Given the description of an element on the screen output the (x, y) to click on. 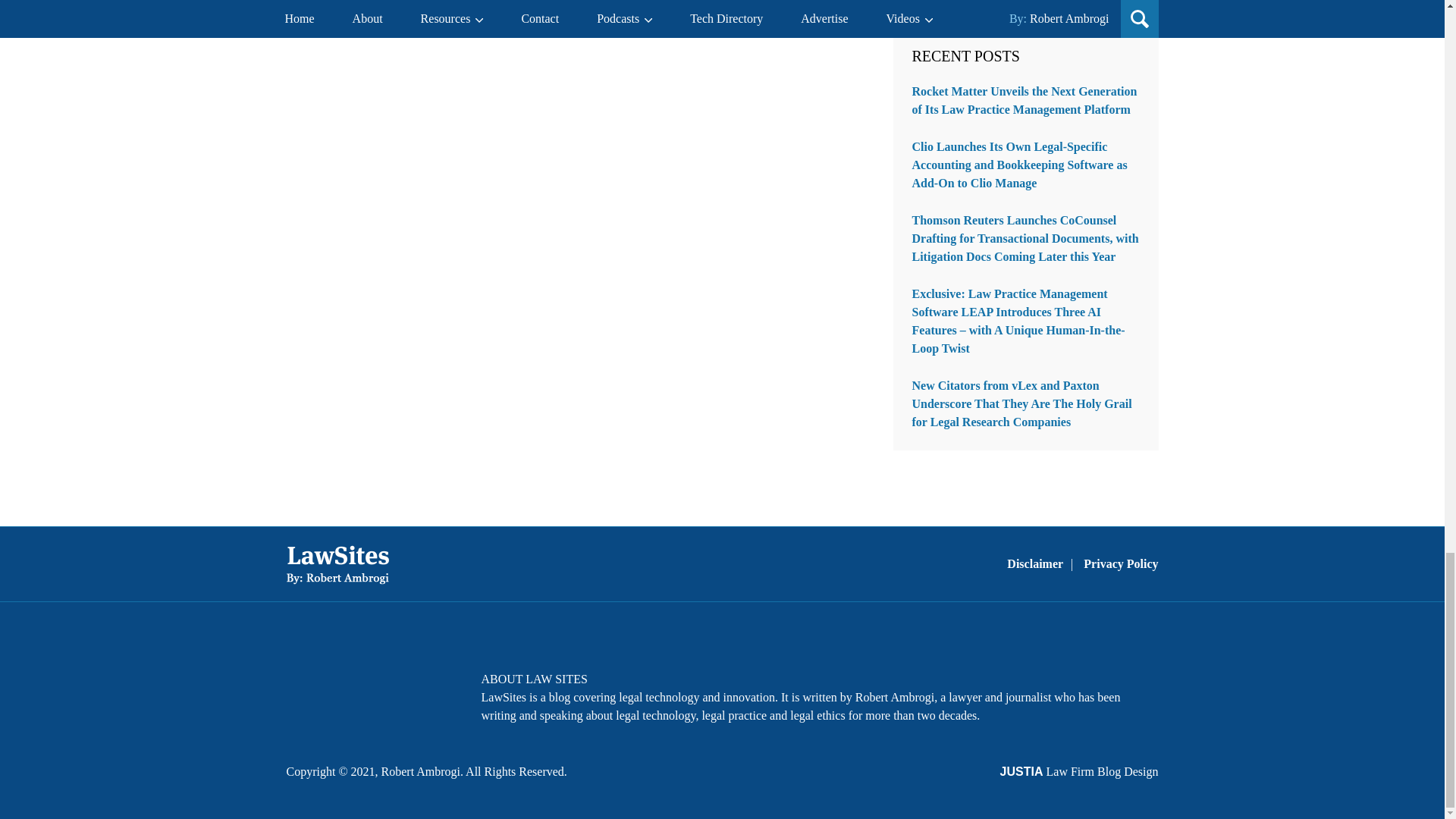
Feed (424, 688)
LinkedIn (384, 688)
Twitter (344, 688)
Facebook (304, 688)
